Given the description of an element on the screen output the (x, y) to click on. 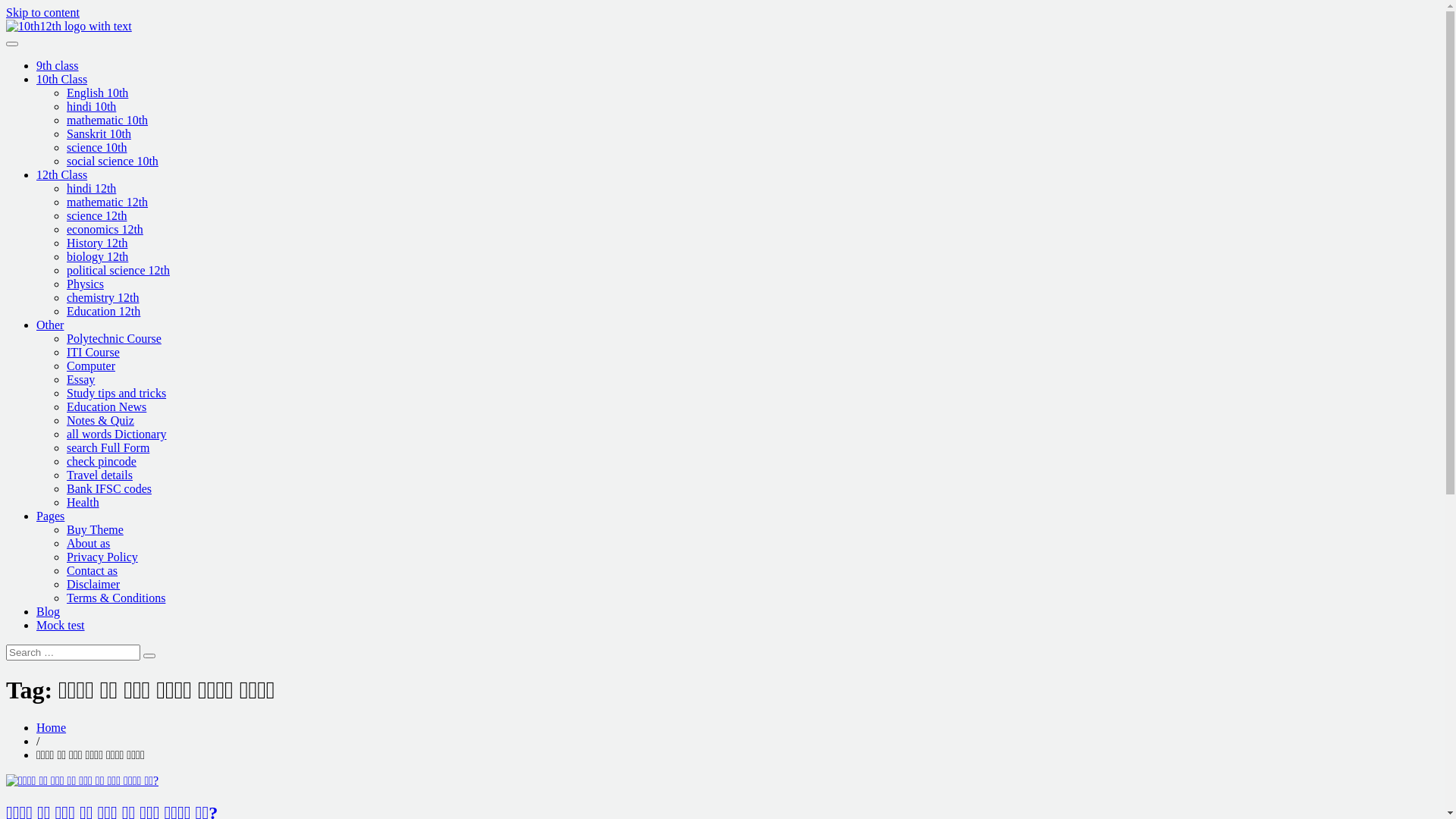
Privacy Policy Element type: text (102, 556)
Polytechnic Course Element type: text (113, 338)
science 10th Element type: text (96, 147)
Education News Element type: text (106, 406)
Search Element type: hover (149, 655)
Bank IFSC codes Element type: text (108, 488)
ITI Course Element type: text (92, 351)
check pincode Element type: text (101, 461)
economics 12th Element type: text (104, 228)
Blog Element type: text (47, 611)
political science 12th Element type: text (117, 269)
Terms & Conditions Element type: text (115, 597)
mathematic 10th Element type: text (106, 119)
hindi 12th Element type: text (91, 188)
Skip to content Element type: text (42, 12)
Essay Element type: text (80, 379)
Health Element type: text (82, 501)
Buy Theme Element type: text (94, 529)
social science 10th Element type: text (112, 160)
Pages Element type: text (50, 515)
Notes & Quiz Element type: text (100, 420)
Study tips and tricks Element type: text (116, 392)
10th 12th Element type: text (29, 51)
Sanskrit 10th Element type: text (98, 133)
About as Element type: text (87, 542)
mathematic 12th Element type: text (106, 201)
search Full Form Element type: text (107, 447)
10th Class Element type: text (61, 78)
Home Element type: text (50, 727)
Disclaimer Element type: text (92, 583)
Computer Element type: text (90, 365)
12th Class Element type: text (61, 174)
all words Dictionary Element type: text (116, 433)
Education 12th Element type: text (103, 310)
Physics Element type: text (84, 283)
chemistry 12th Element type: text (102, 297)
science 12th Element type: text (96, 215)
9th class Element type: text (57, 65)
biology 12th Element type: text (97, 256)
Mock test Element type: text (60, 624)
History 12th Element type: text (96, 242)
English 10th Element type: text (97, 92)
Other Element type: text (49, 324)
hindi 10th Element type: text (91, 106)
Contact as Element type: text (91, 570)
Travel details Element type: text (99, 474)
